Given the description of an element on the screen output the (x, y) to click on. 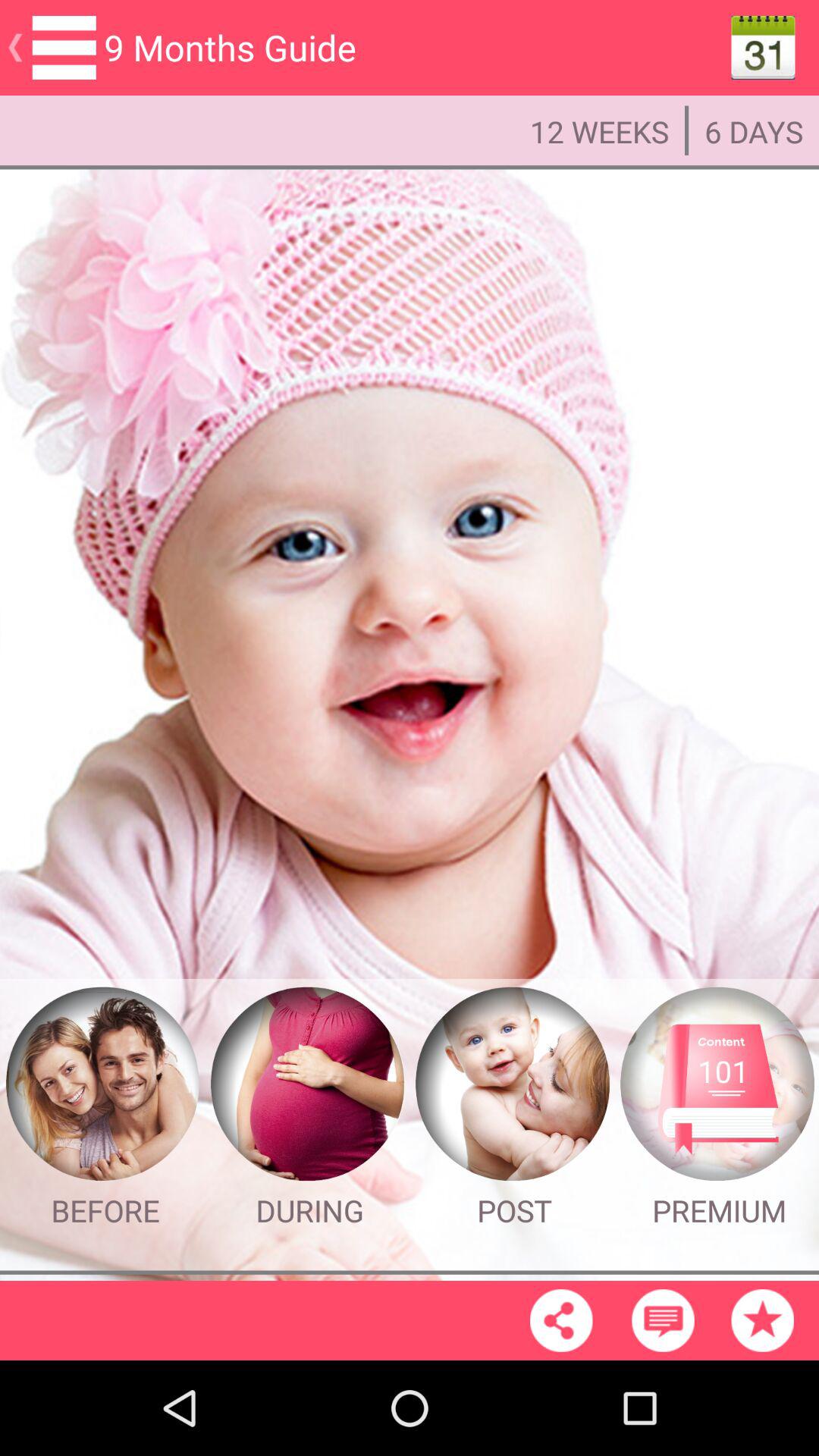
message box (662, 1320)
